Given the description of an element on the screen output the (x, y) to click on. 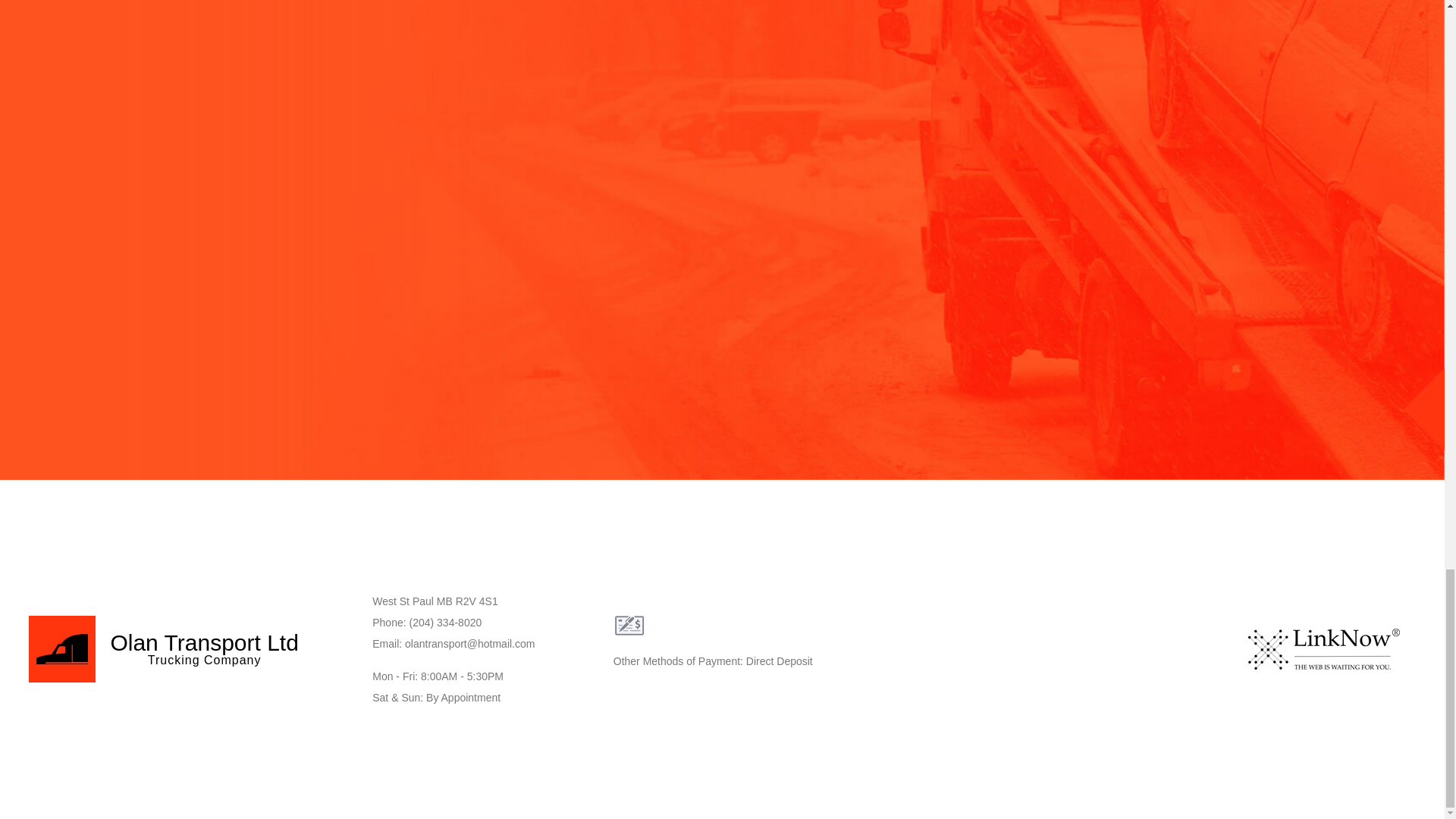
Olan Transport Ltd's Google Maps (1082, 648)
Check (628, 625)
